Given the description of an element on the screen output the (x, y) to click on. 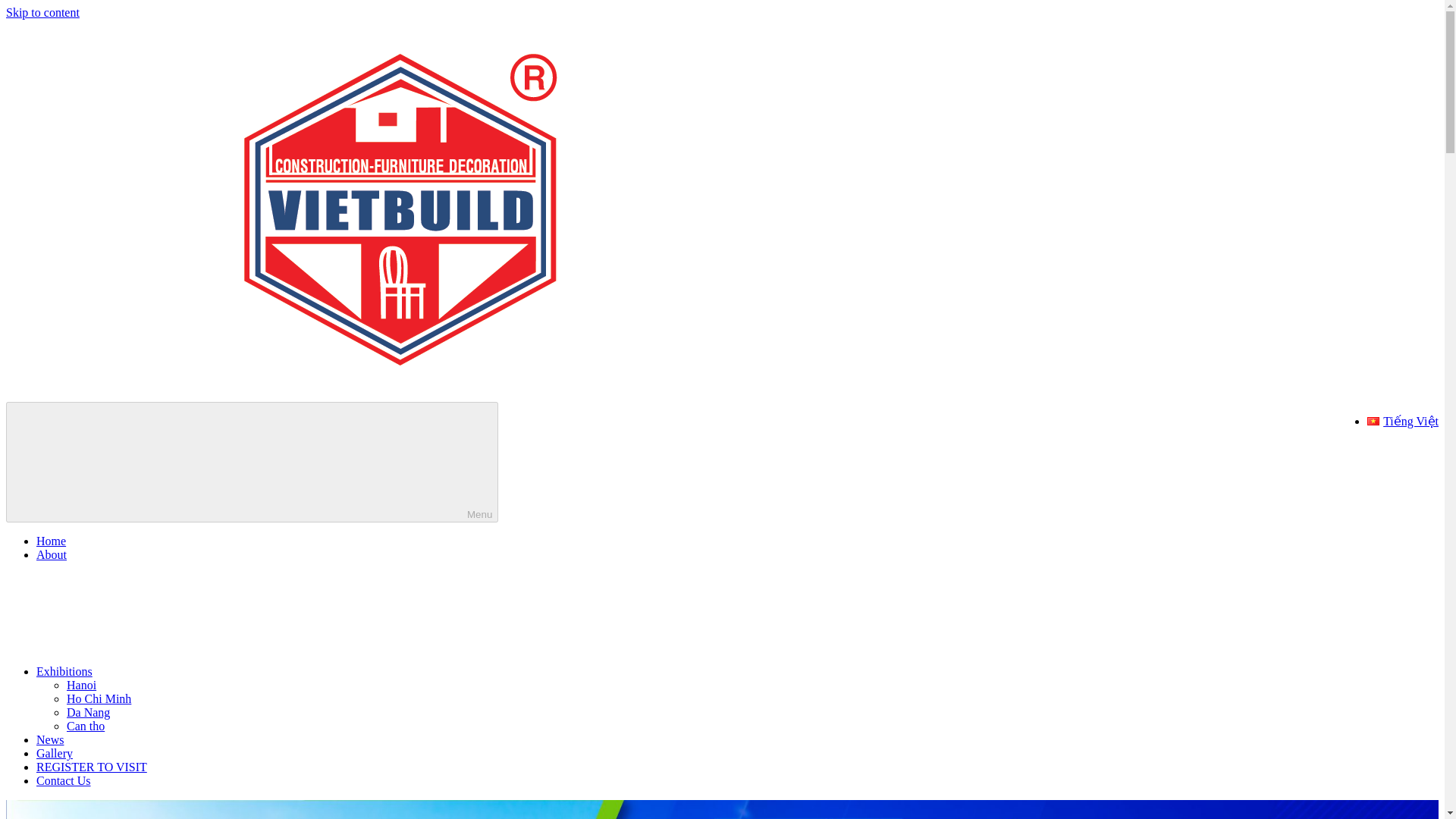
Skip to content (42, 11)
About (51, 554)
News (50, 739)
Hanoi (81, 684)
Home (50, 540)
Ho Chi Minh (98, 698)
Menu (251, 462)
REGISTER TO VISIT (91, 766)
Gallery (54, 753)
